Given the description of an element on the screen output the (x, y) to click on. 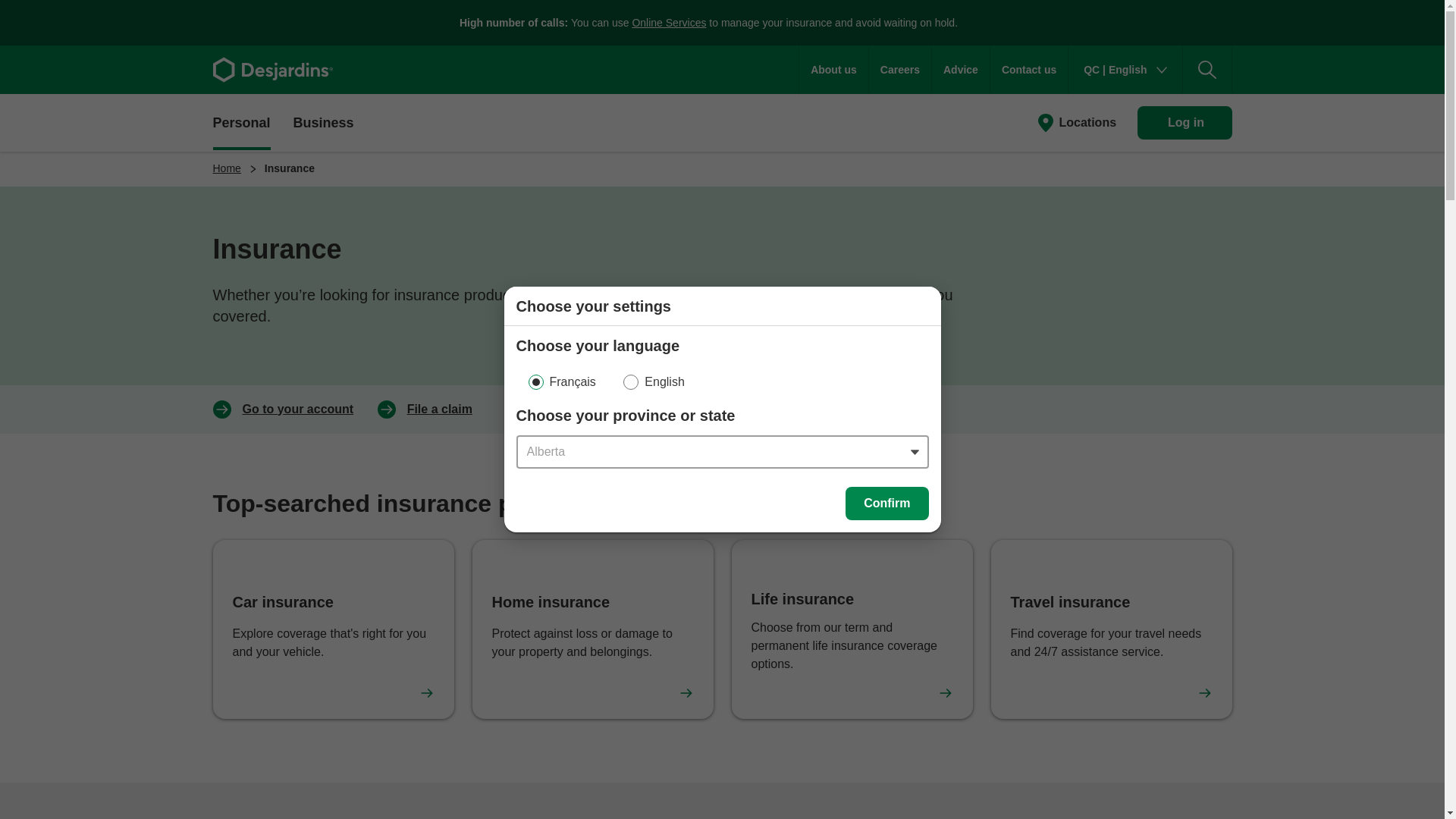
Search (1206, 69)
Contact us (1028, 69)
Personal (240, 121)
Careers (900, 69)
Advice (960, 69)
About us (833, 69)
Online Services (668, 22)
Close important message. (1418, 22)
Business (323, 121)
